Given the description of an element on the screen output the (x, y) to click on. 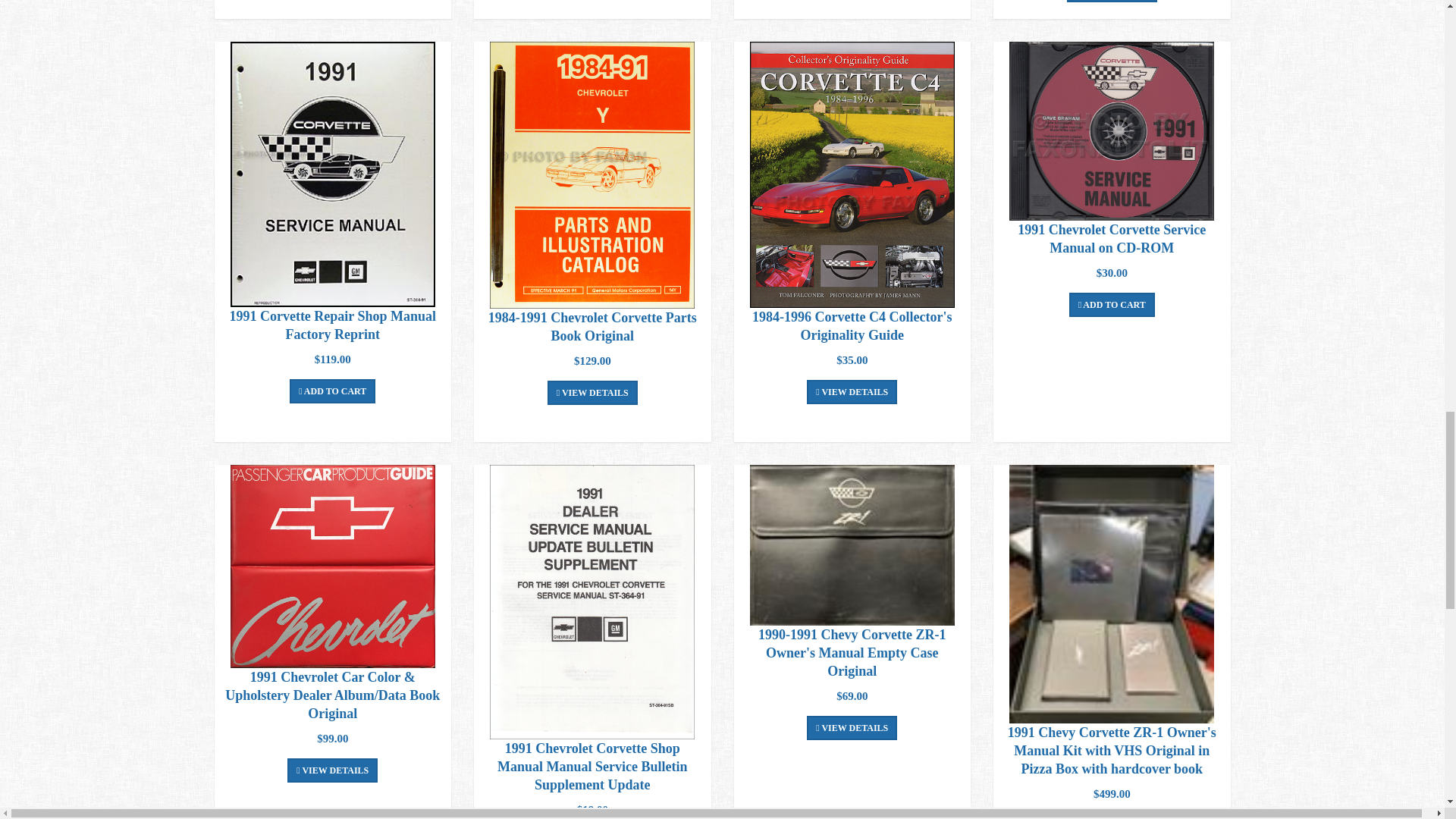
1984-1996 Corvette C4 Collector's Originality Guide (852, 174)
1991 Corvette Shop Manual Factory Reprint (332, 174)
1991 Chevrolet Corvette Service Manual on CD-ROM (1111, 130)
1984-1991 Chevrolet Corvette Parts Book Original (591, 174)
